Given the description of an element on the screen output the (x, y) to click on. 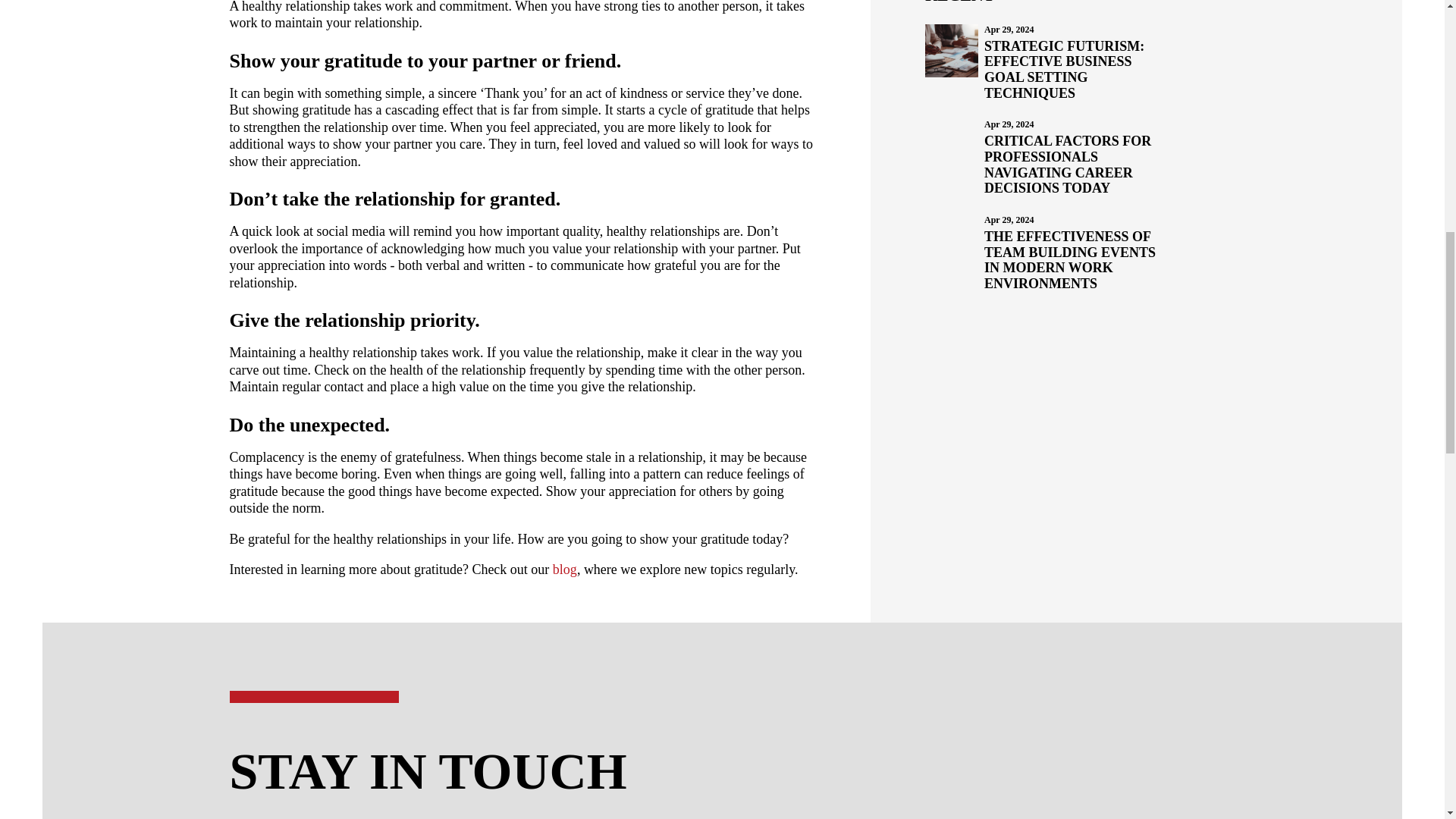
blog (564, 569)
